Given the description of an element on the screen output the (x, y) to click on. 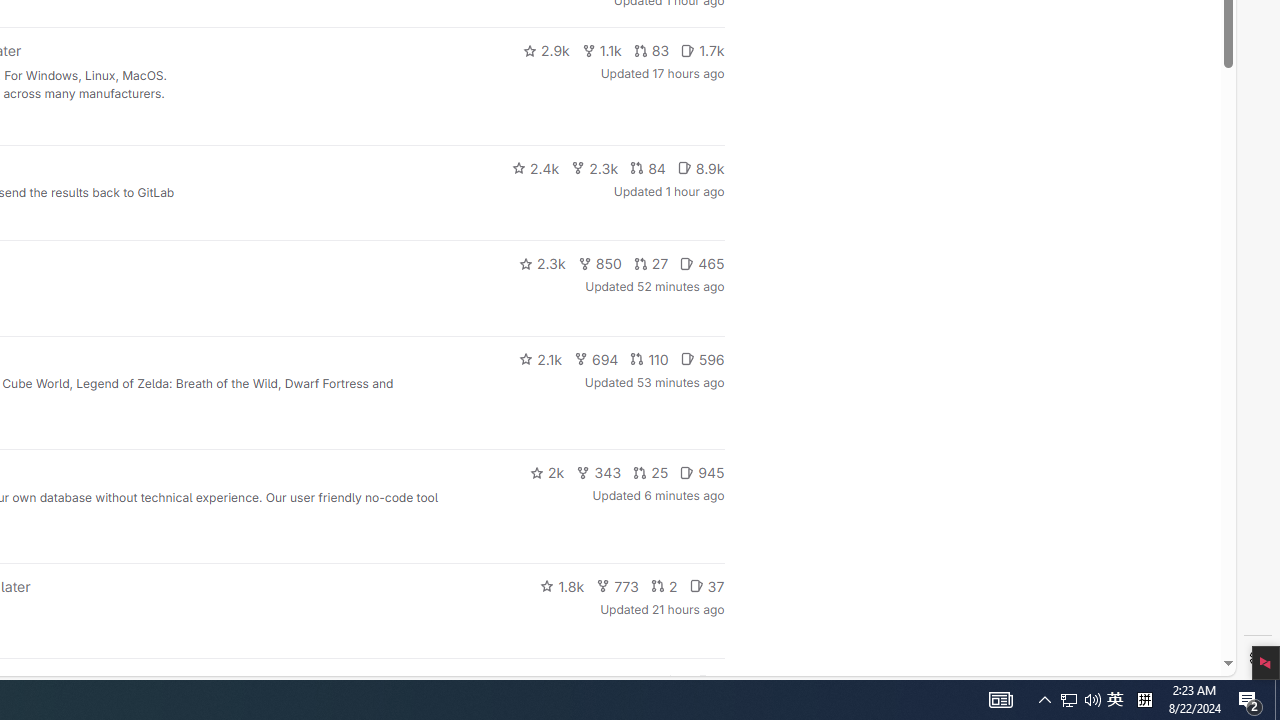
1 (673, 681)
945 (701, 472)
2.1k (539, 358)
6 (710, 681)
694 (596, 358)
1.1k (601, 50)
2.4k (535, 167)
110 (649, 358)
343 (599, 472)
465 (701, 263)
84 (647, 167)
1.4k (573, 681)
773 (618, 585)
143 (629, 681)
